Given the description of an element on the screen output the (x, y) to click on. 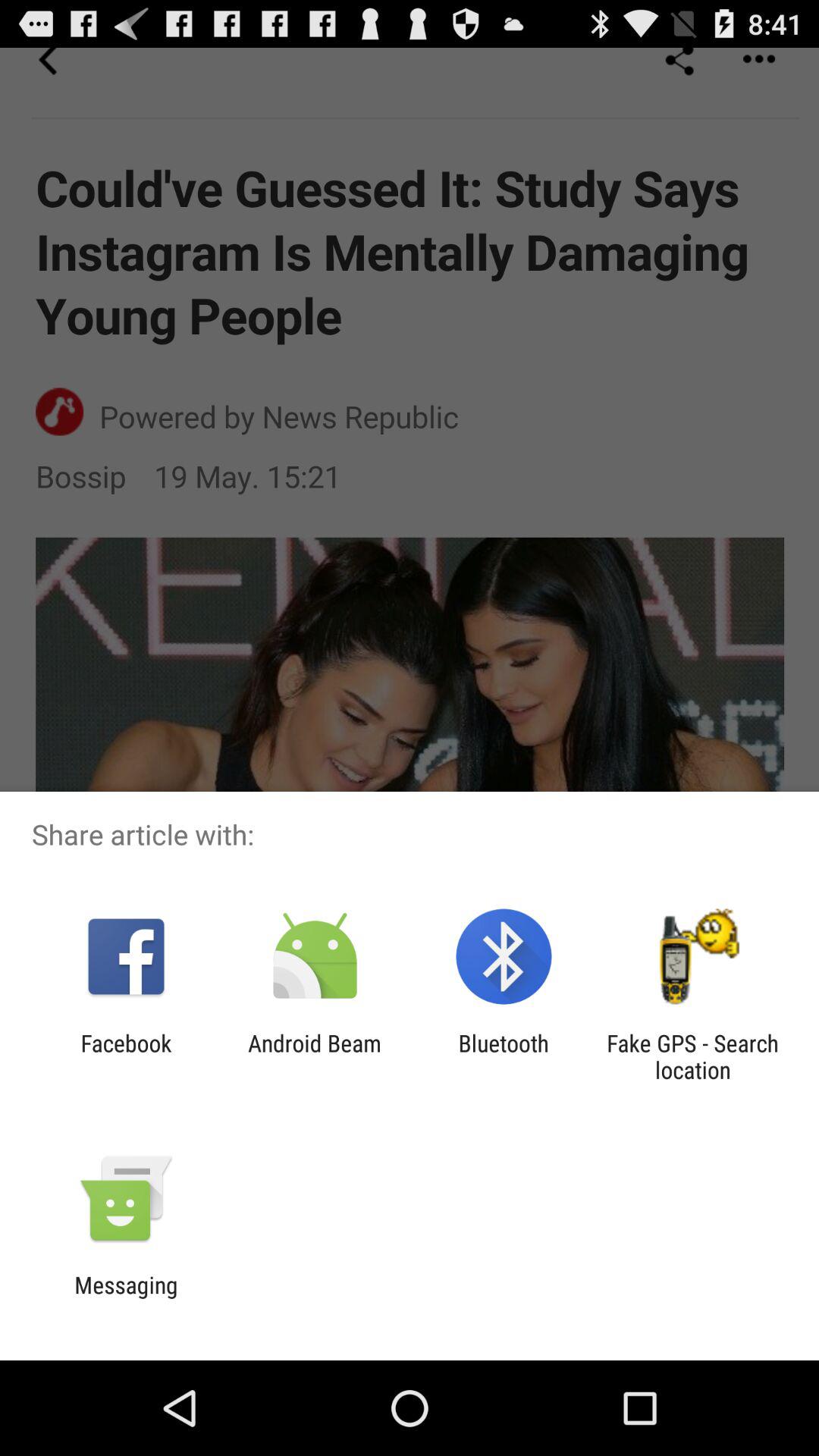
turn off facebook item (125, 1056)
